Given the description of an element on the screen output the (x, y) to click on. 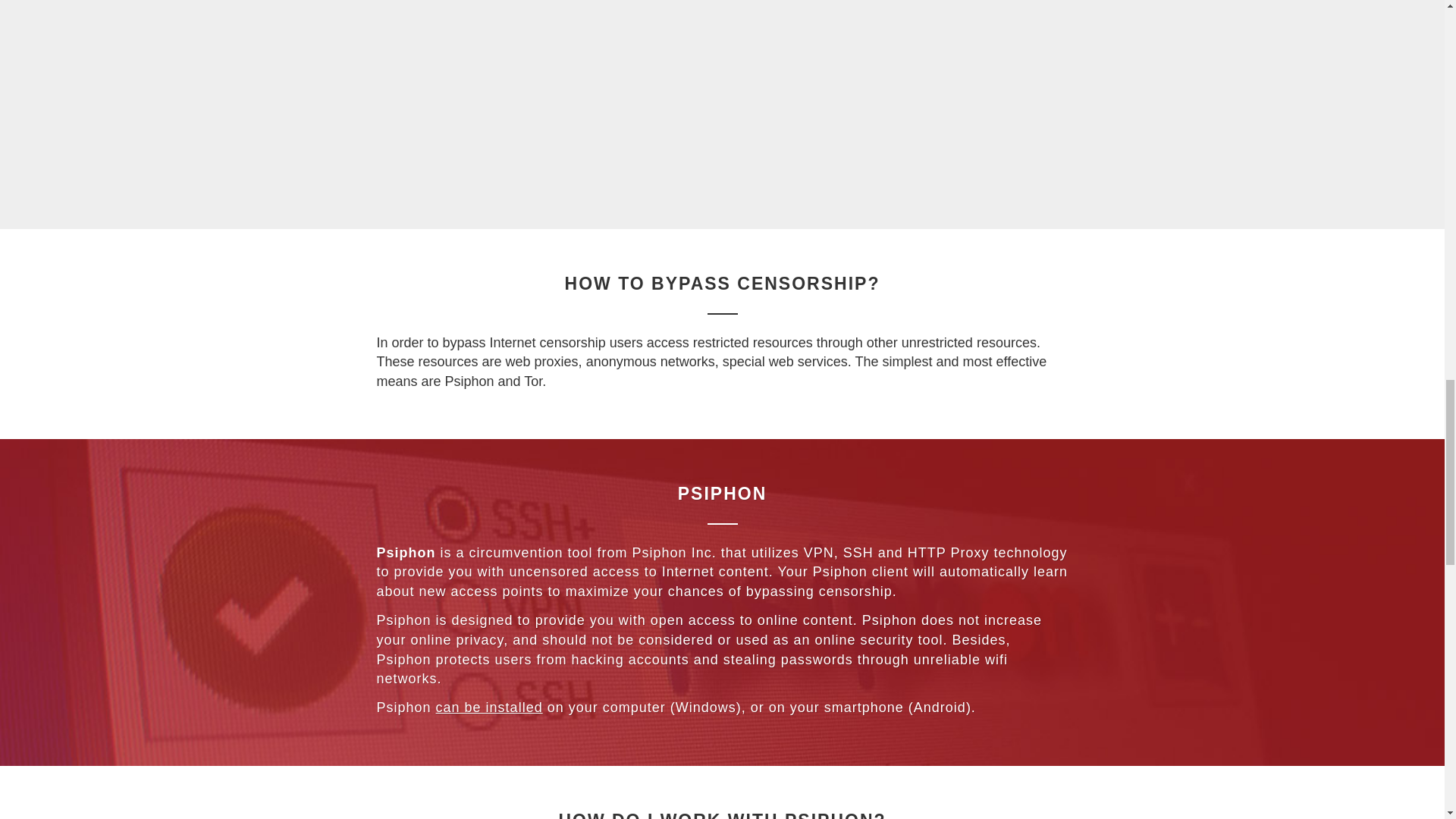
can be installed (489, 707)
